Given the description of an element on the screen output the (x, y) to click on. 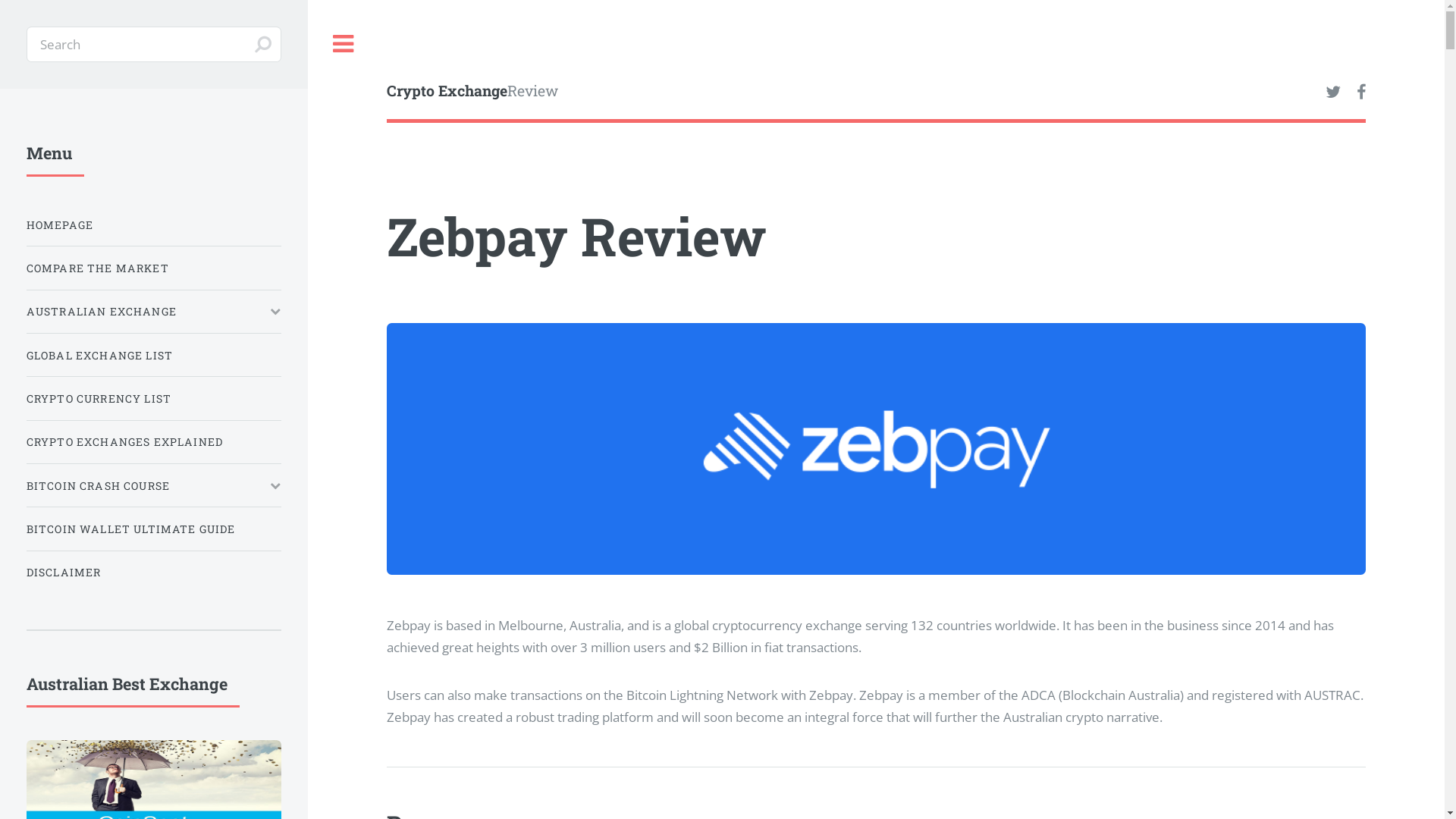
GLOBAL EXCHANGE LIST Element type: text (153, 354)
Toggle Element type: text (343, 44)
HOMEPAGE Element type: text (153, 224)
CRYPTO EXCHANGES EXPLAINED Element type: text (153, 441)
Crypto ExchangeReview Element type: text (631, 92)
BITCOIN WALLET ULTIMATE GUIDE Element type: text (153, 528)
COMPARE THE MARKET Element type: text (153, 267)
CRYPTO CURRENCY LIST Element type: text (153, 398)
DISCLAIMER Element type: text (153, 571)
